Given the description of an element on the screen output the (x, y) to click on. 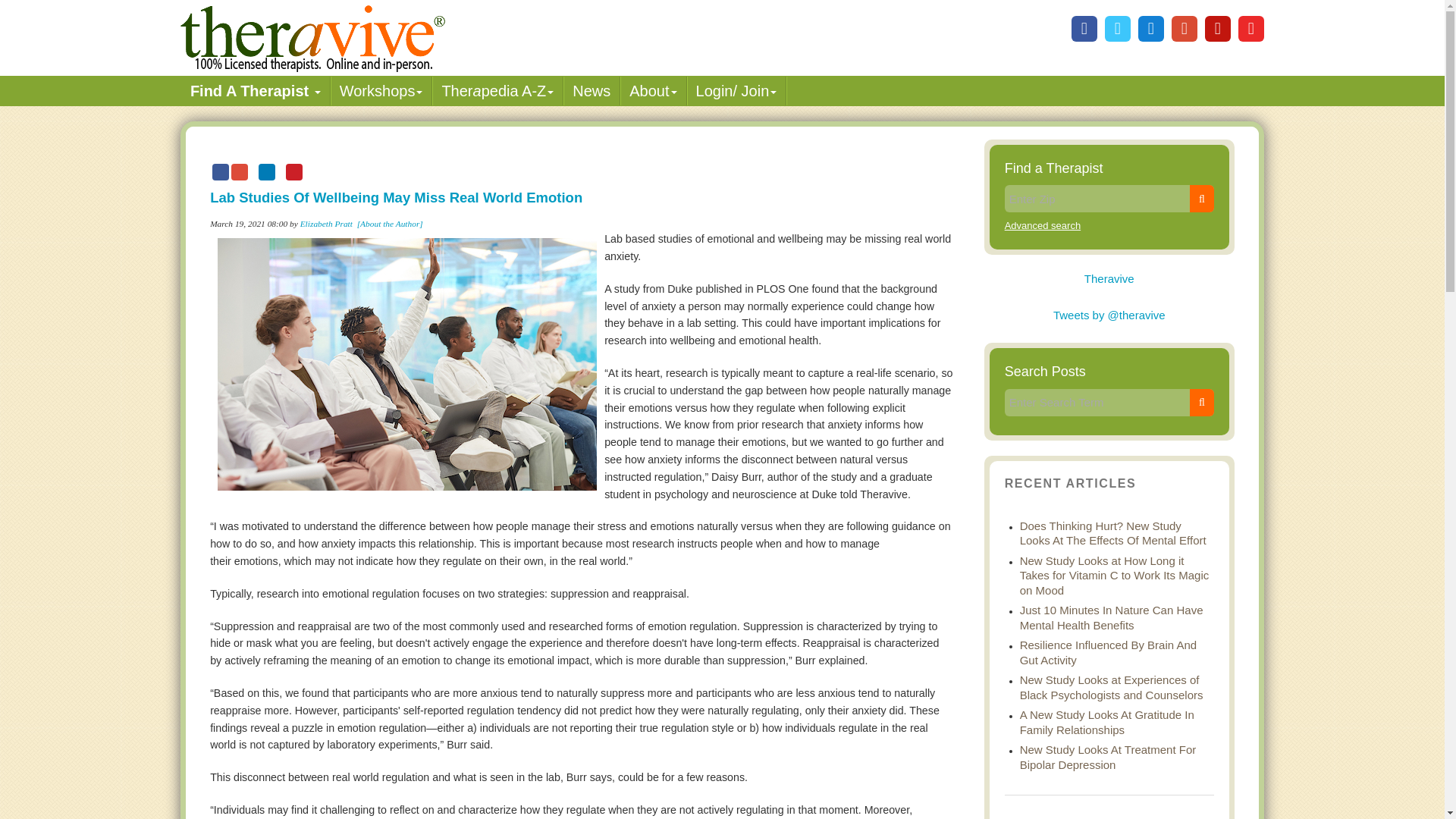
Theravive on Twitter (1118, 28)
News (591, 90)
LinkedIn (1150, 28)
Workshops (381, 90)
About (652, 90)
Theravive Youtube (1251, 28)
Therapedia A-Z (497, 90)
Theravive Facebook (1084, 28)
Find A Therapist (255, 90)
Pinterest (1217, 28)
